Given the description of an element on the screen output the (x, y) to click on. 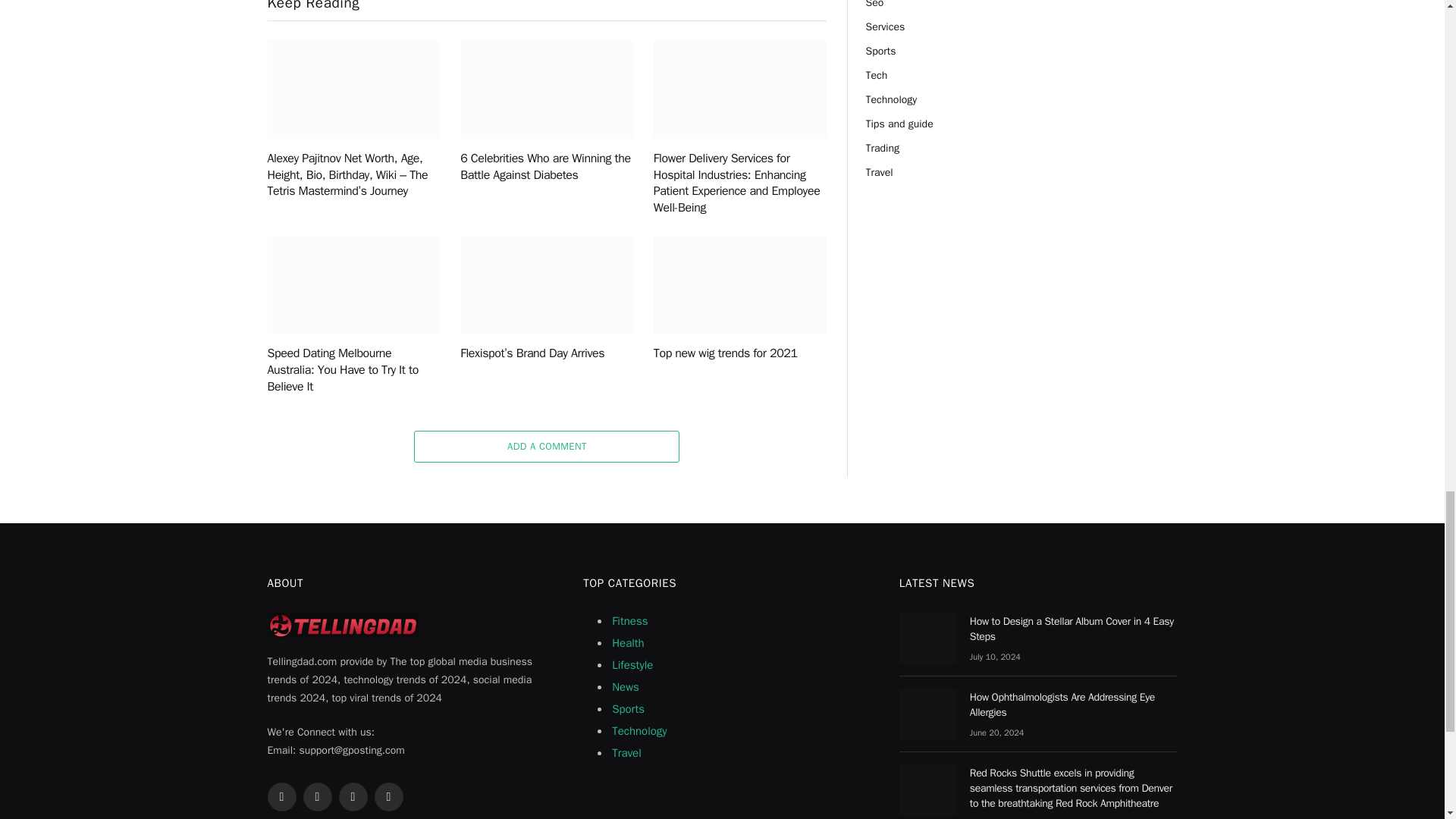
6 Celebrities Who are Winning the Battle Against Diabetes (546, 89)
